Given the description of an element on the screen output the (x, y) to click on. 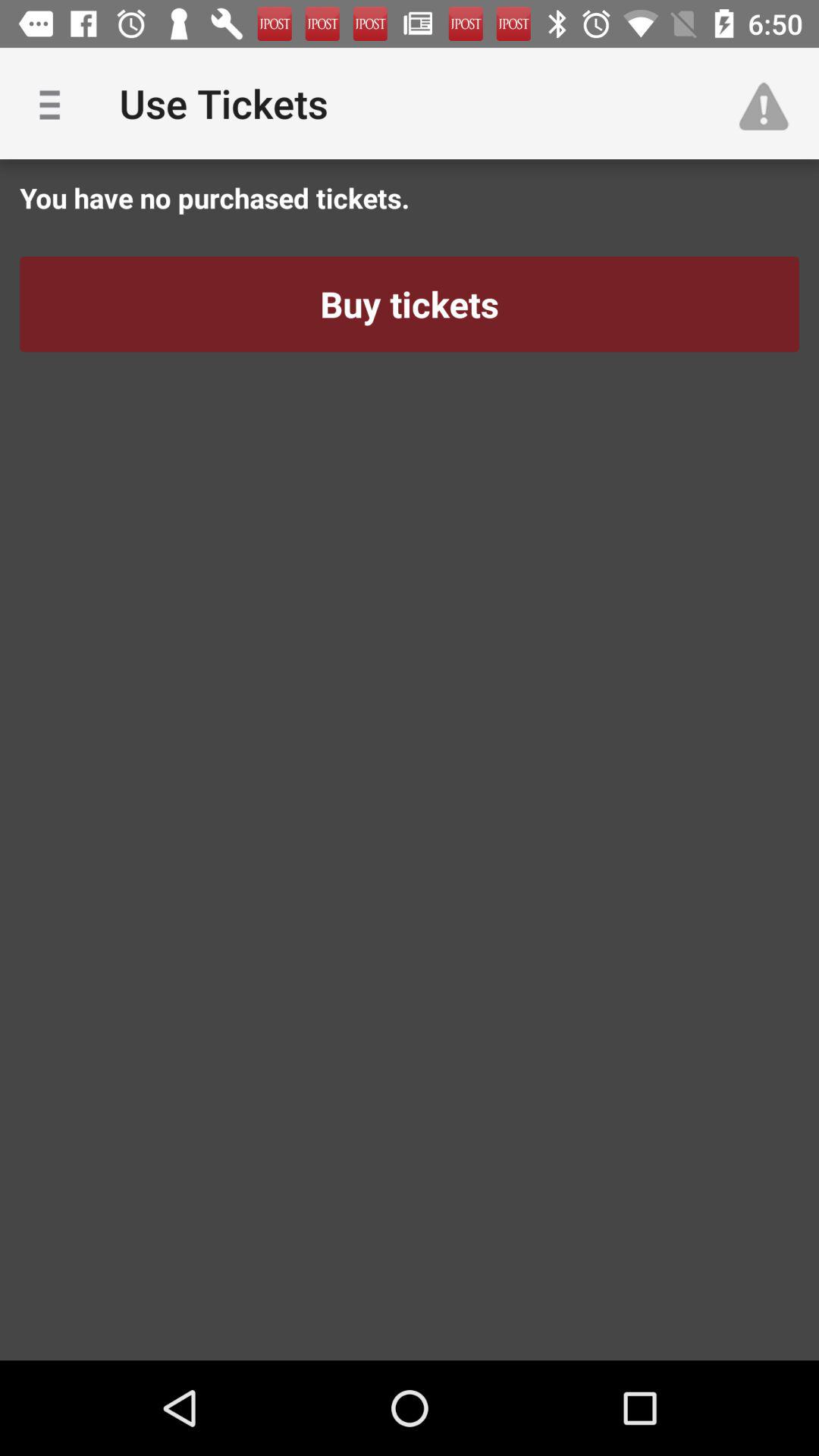
choose the item at the top right corner (771, 103)
